Given the description of an element on the screen output the (x, y) to click on. 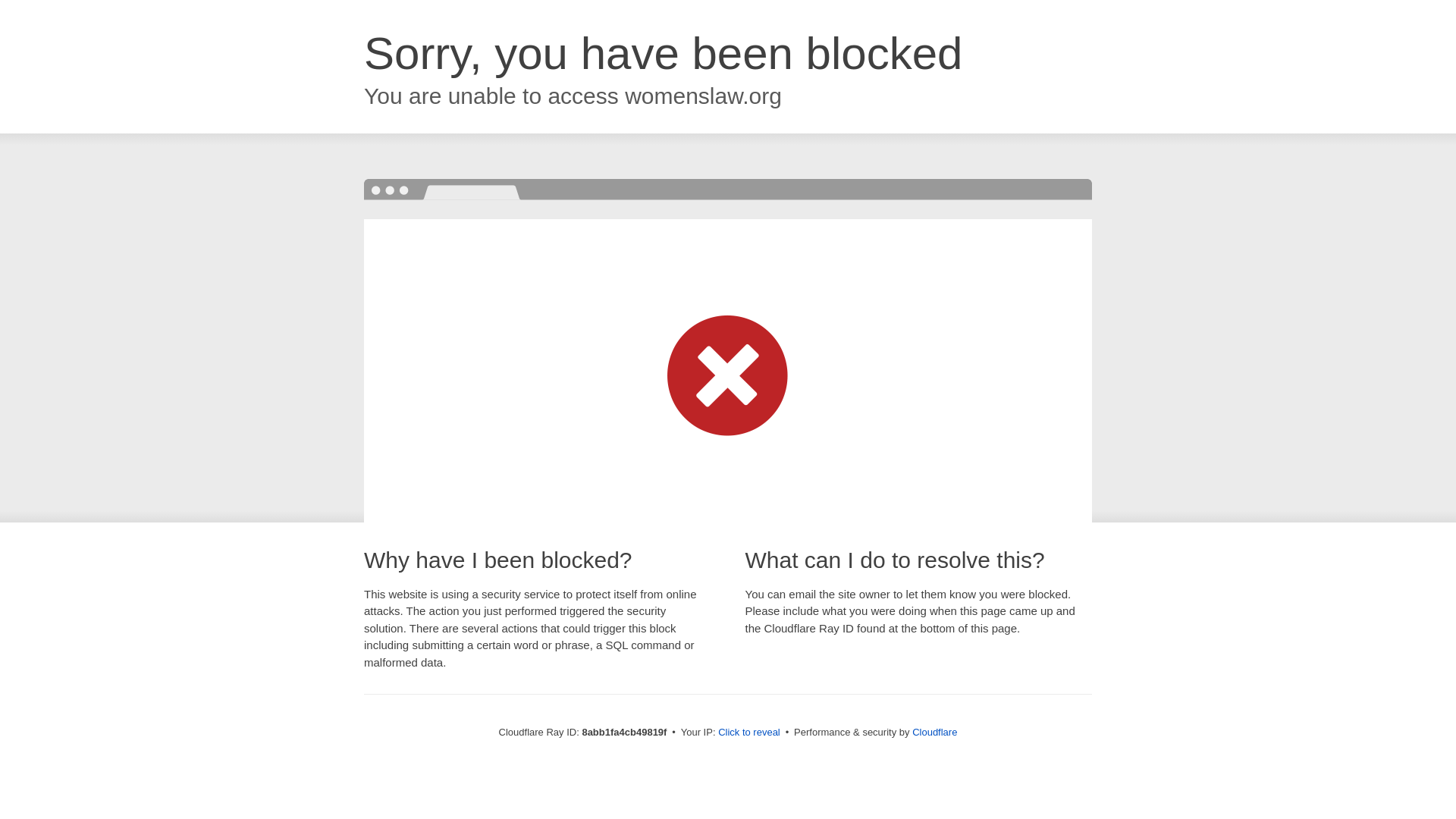
Click to reveal (748, 732)
Cloudflare (934, 731)
